Given the description of an element on the screen output the (x, y) to click on. 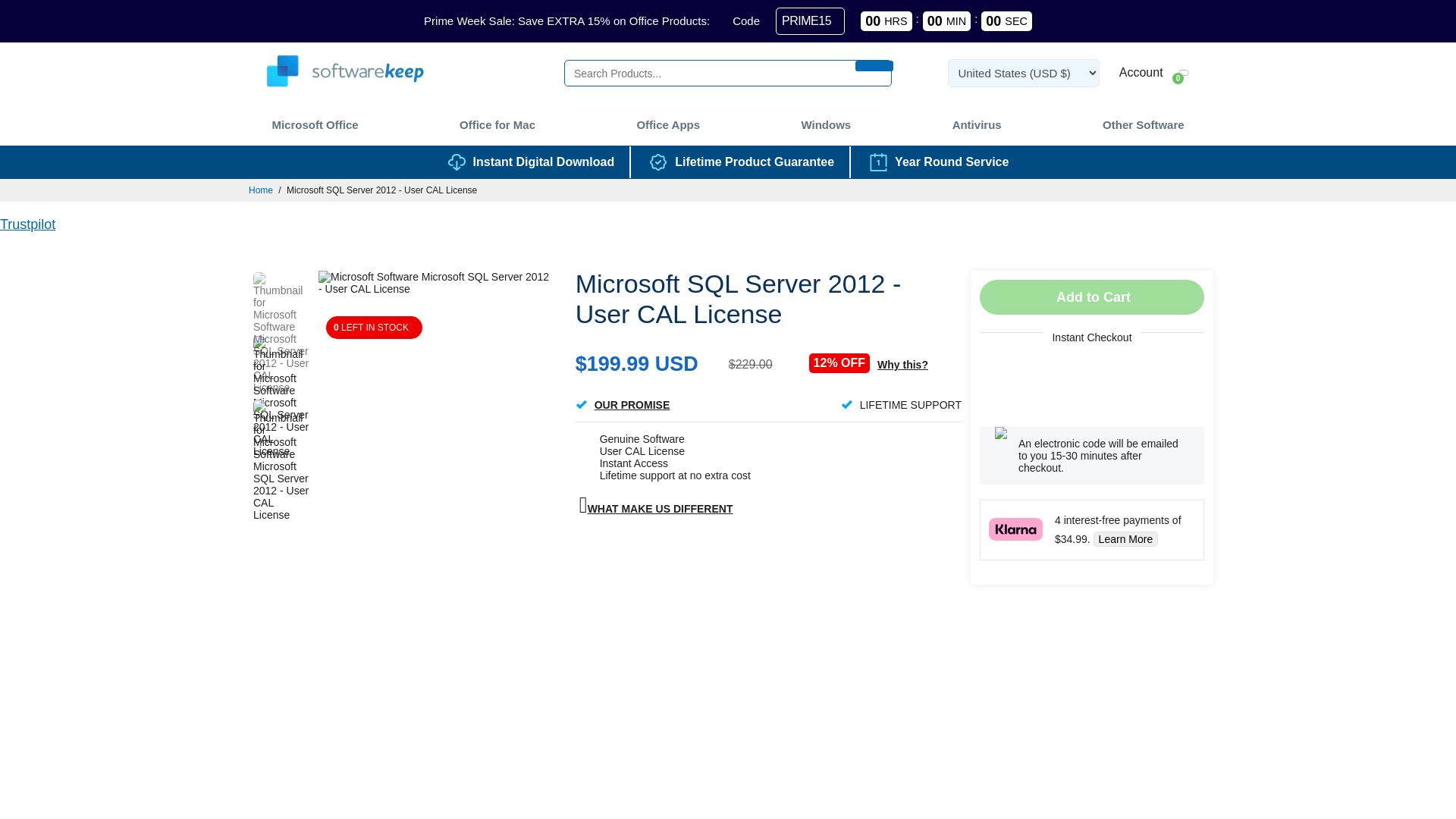
Account (1139, 72)
Klarna badge (1015, 528)
Home (260, 190)
Office for Mac (497, 124)
Microsoft Office (314, 124)
